Given the description of an element on the screen output the (x, y) to click on. 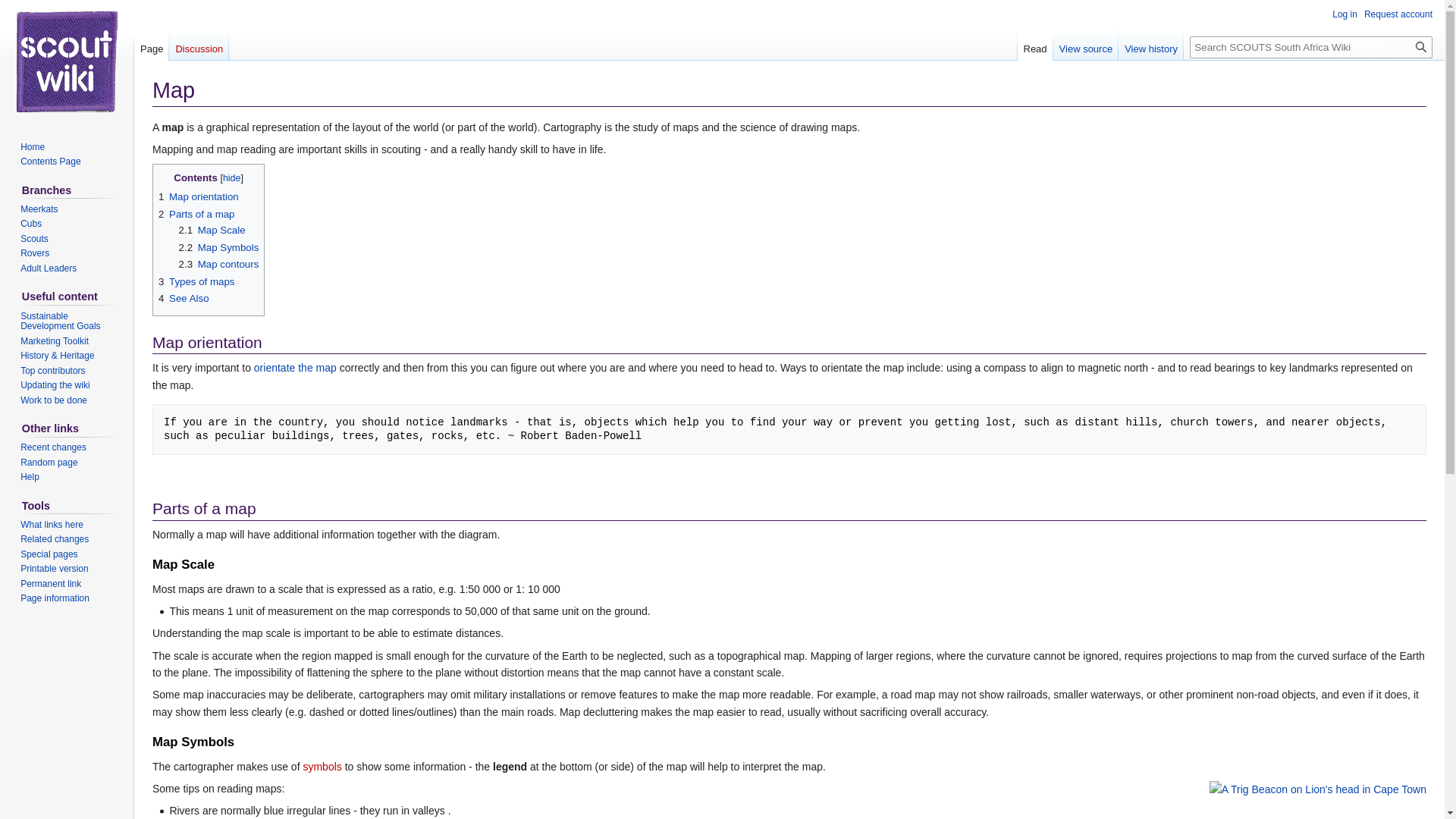
Adult Leaders (48, 267)
Search (1420, 46)
Home (32, 146)
2.2 Map Symbols (219, 247)
Discussion (198, 45)
1 Map orientation (198, 196)
Meerkats (39, 208)
View history (1150, 45)
orientate the map (294, 367)
Page (150, 45)
Scouts (34, 238)
symbols (321, 766)
2.3 Map contours (219, 264)
